Given the description of an element on the screen output the (x, y) to click on. 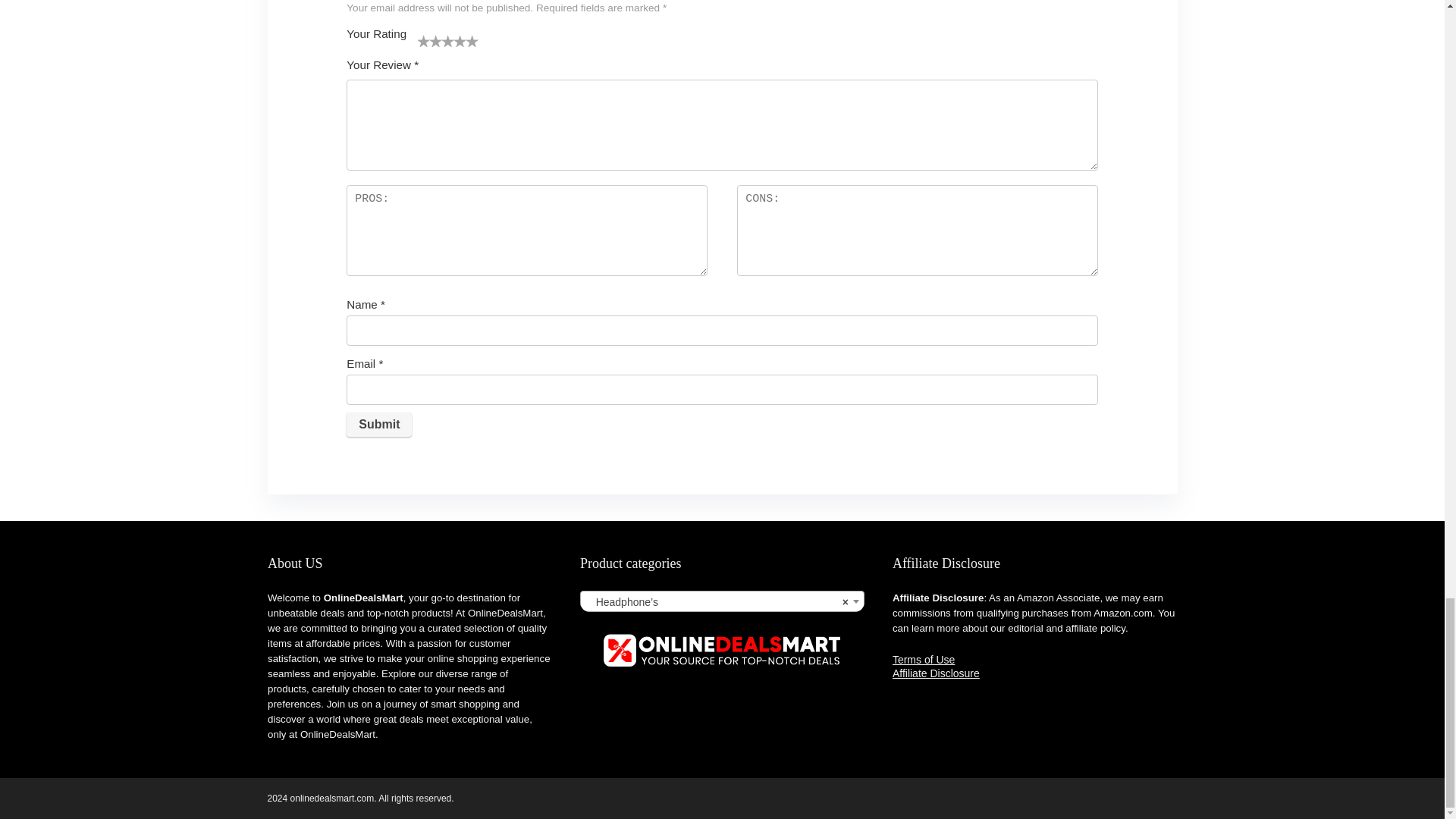
Submit (379, 424)
